Given the description of an element on the screen output the (x, y) to click on. 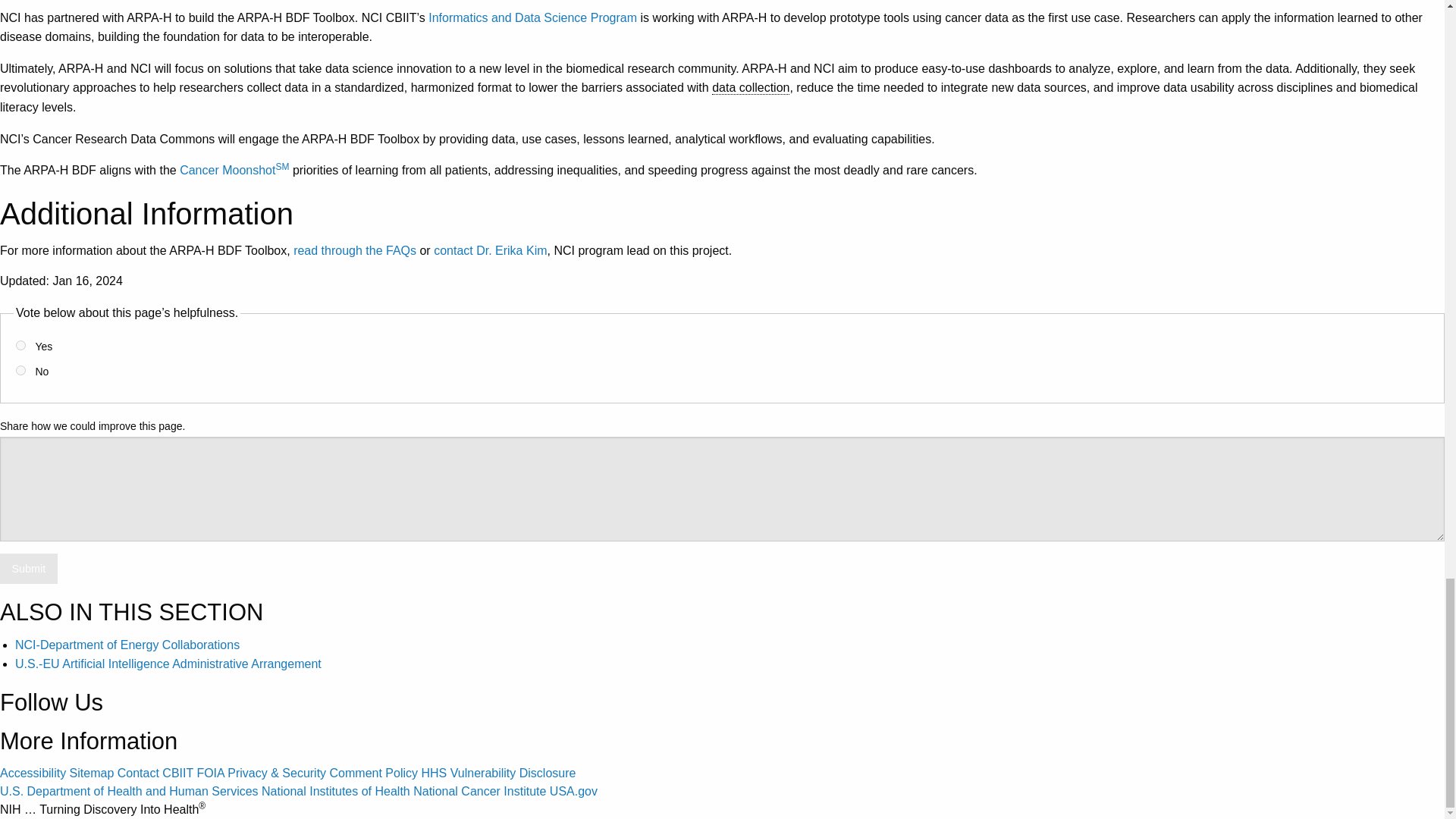
Yes (21, 345)
No (21, 370)
Submit (29, 568)
